Given the description of an element on the screen output the (x, y) to click on. 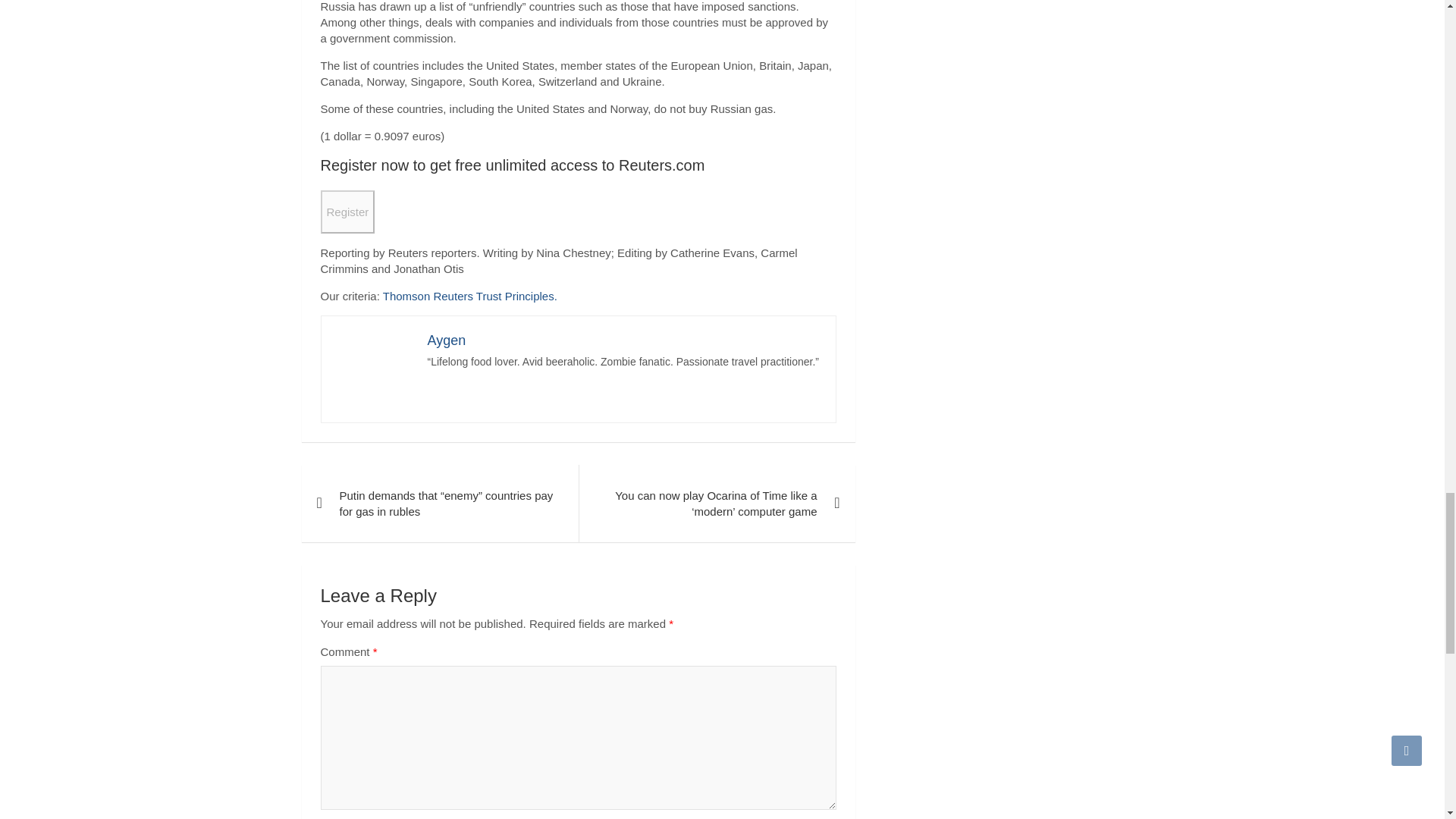
Aygen (446, 340)
Register (347, 211)
Thomson Reuters Trust Principles. (469, 295)
